Given the description of an element on the screen output the (x, y) to click on. 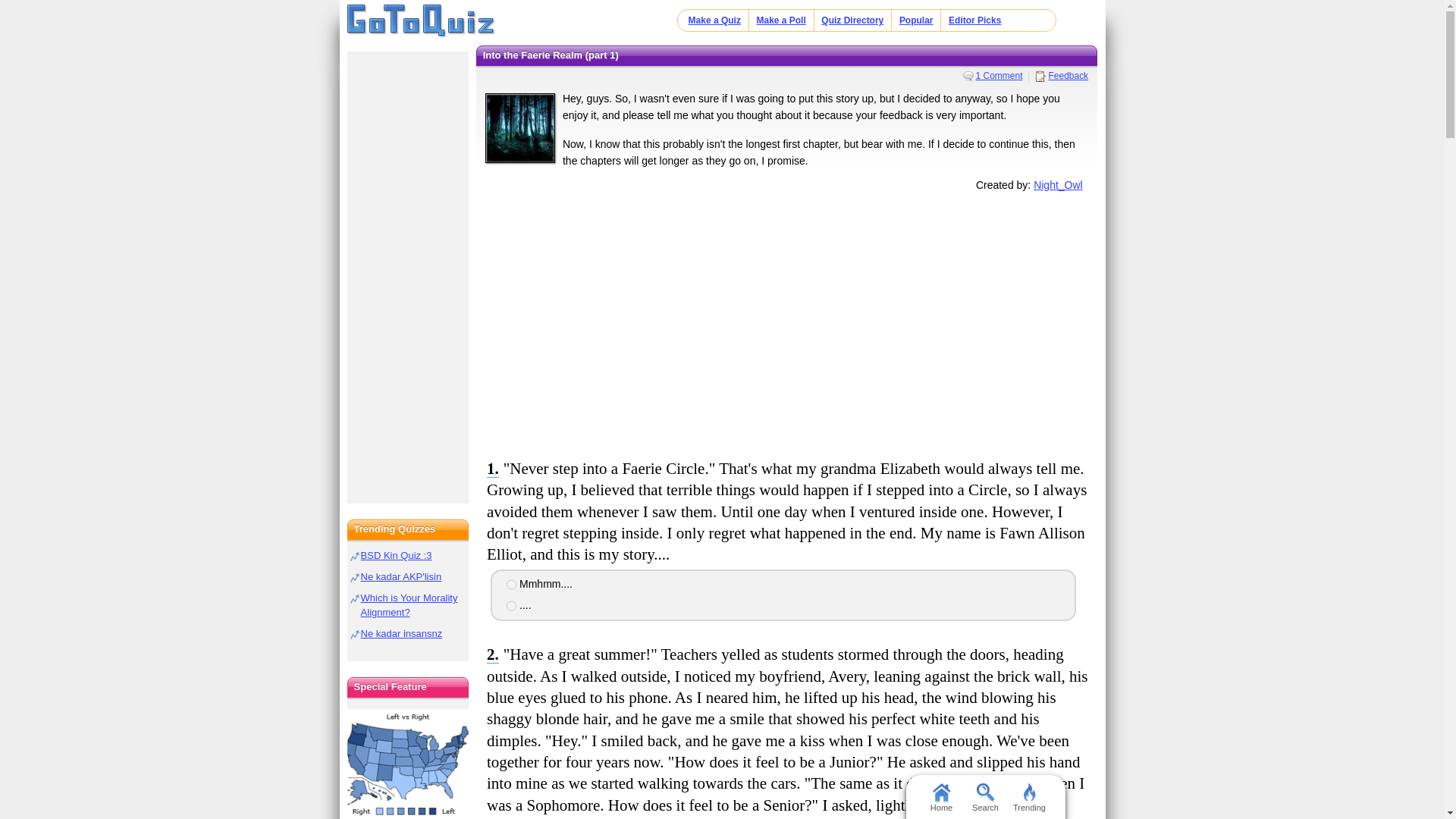
Home (421, 20)
Search (984, 796)
Ne kadar insansnz (401, 633)
Make a Poll (780, 20)
1 (511, 584)
Feedback (1061, 75)
Trending (1029, 796)
1 Comment (992, 75)
Home (940, 796)
Which is Your Morality Alignment? (409, 605)
Ne kadar AKP'lisin (401, 576)
Take our featured politics quiz (407, 764)
Advertisement (786, 323)
BSD Kin Quiz :3 (396, 555)
Editor Picks (975, 20)
